Given the description of an element on the screen output the (x, y) to click on. 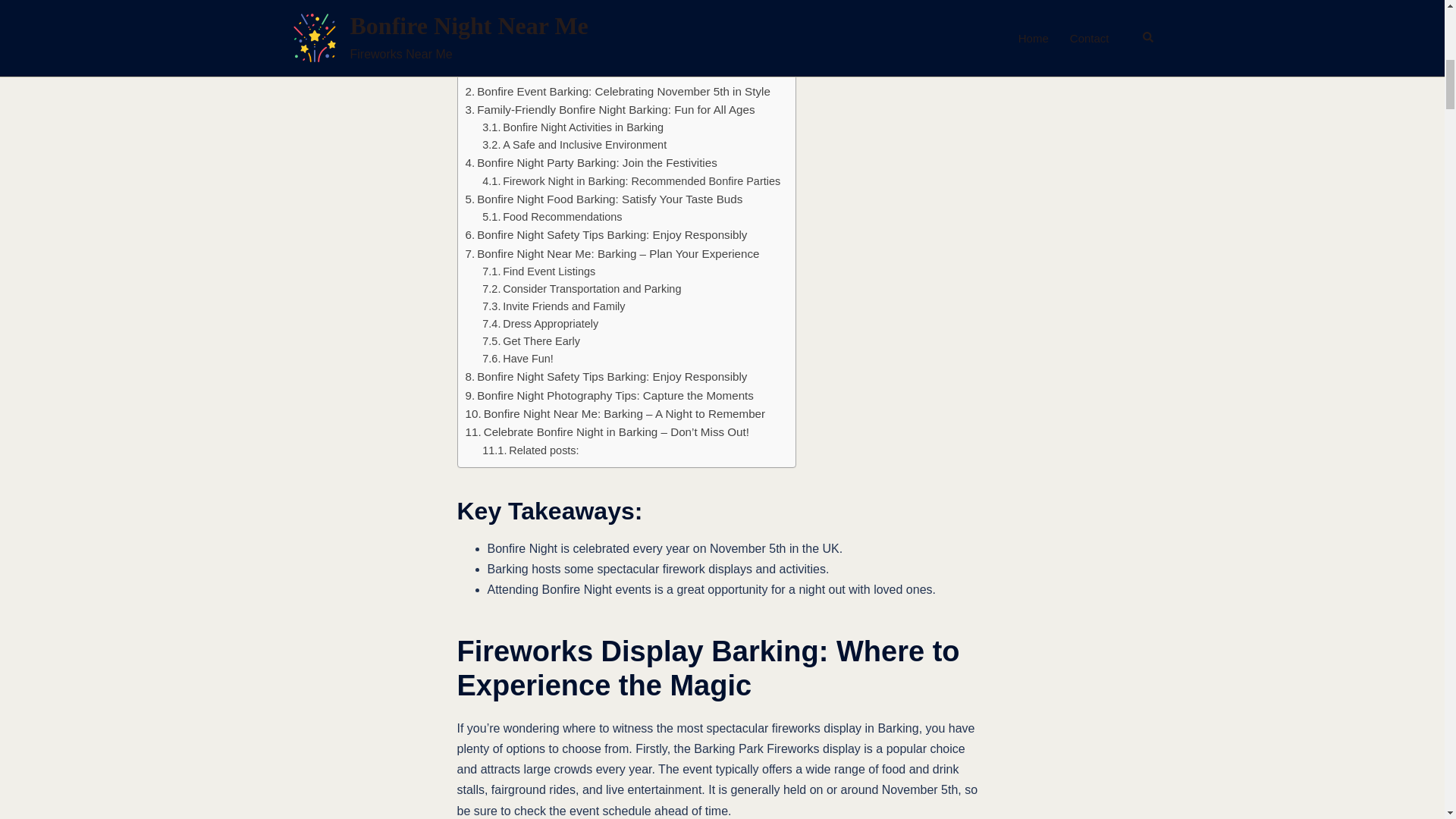
Bonfire Event Barking: Celebrating November 5th in Style (617, 91)
Firework Night in Barking: Recommended Bonfire Parties (630, 181)
Key Takeaways: (535, 36)
Bonfire Night Activities in Barking (572, 127)
A Safe and Inclusive Environment (573, 144)
Additional Locations (540, 73)
Family-Friendly Bonfire Night Barking: Fun for All Ages (610, 109)
Bonfire Night Safety Tips Barking: Enjoy Responsibly (606, 235)
Firework Night in Barking: Recommended Bonfire Parties (630, 181)
Bonfire Night Food Barking: Satisfy Your Taste Buds (603, 199)
